Given the description of an element on the screen output the (x, y) to click on. 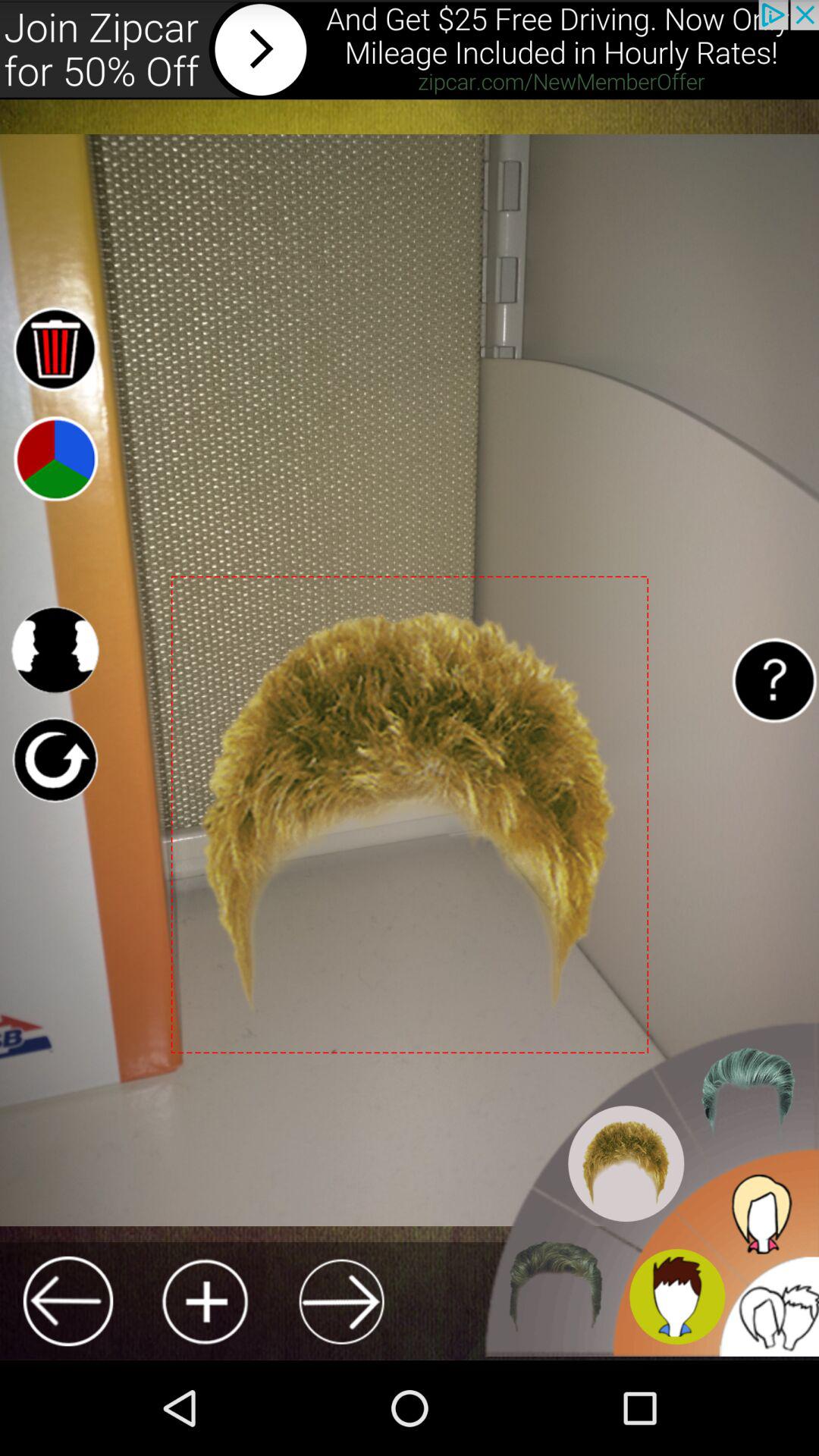
question symbol (774, 680)
